Given the description of an element on the screen output the (x, y) to click on. 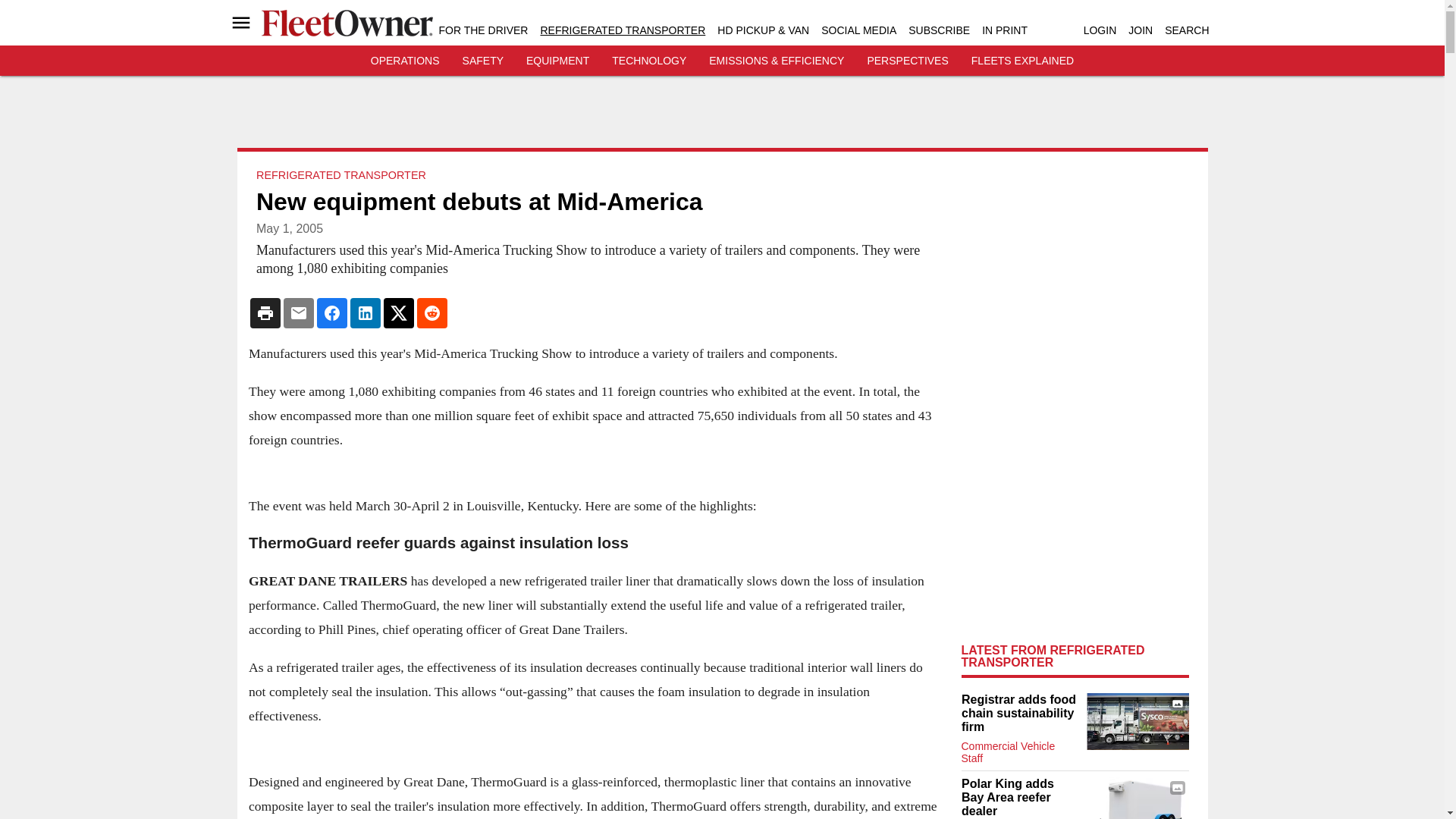
LOGIN (1099, 30)
FOR THE DRIVER (482, 30)
SEARCH (1186, 30)
SOCIAL MEDIA (858, 30)
IN PRINT (1004, 30)
PERSPECTIVES (906, 60)
REFRIGERATED TRANSPORTER (622, 30)
OPERATIONS (405, 60)
JOIN (1140, 30)
TECHNOLOGY (648, 60)
EQUIPMENT (557, 60)
SAFETY (483, 60)
SUBSCRIBE (938, 30)
FLEETS EXPLAINED (1022, 60)
